Given the description of an element on the screen output the (x, y) to click on. 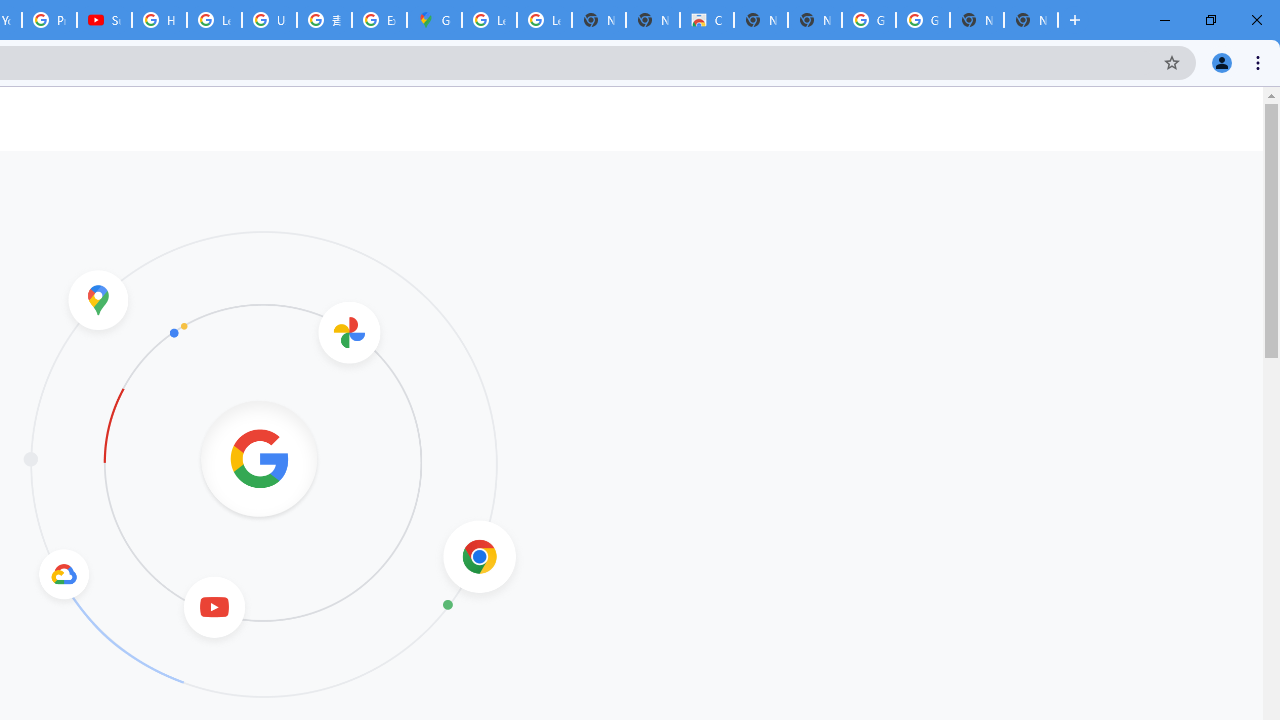
Chrome Web Store (706, 20)
Explore new street-level details - Google Maps Help (379, 20)
Subscriptions - YouTube (103, 20)
Google Images (868, 20)
Google Maps (434, 20)
